Given the description of an element on the screen output the (x, y) to click on. 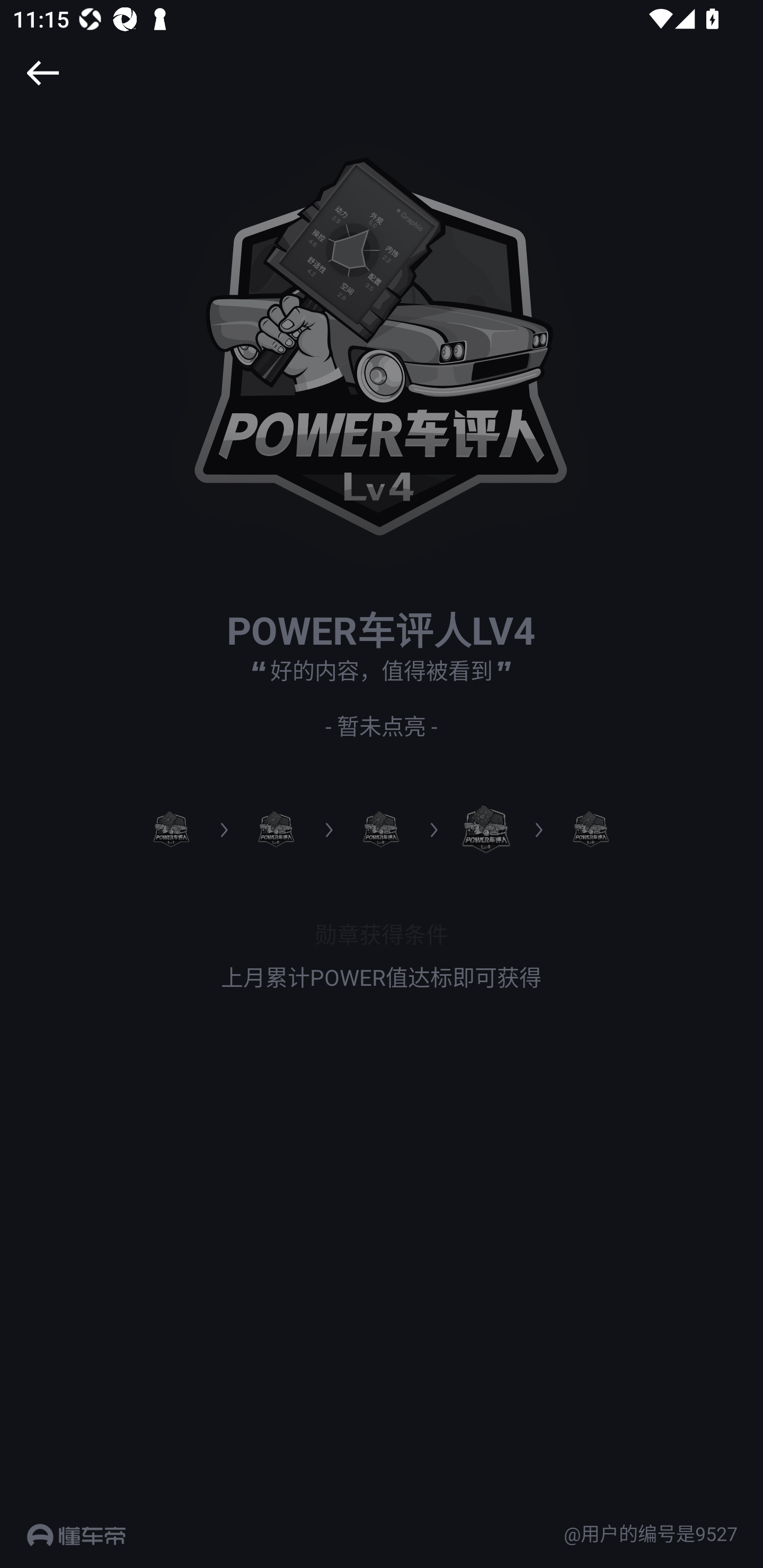
 (42, 72)
勋章获得条件 (381, 933)
上月累计POWER值达标即可获得 (381, 977)
